Given the description of an element on the screen output the (x, y) to click on. 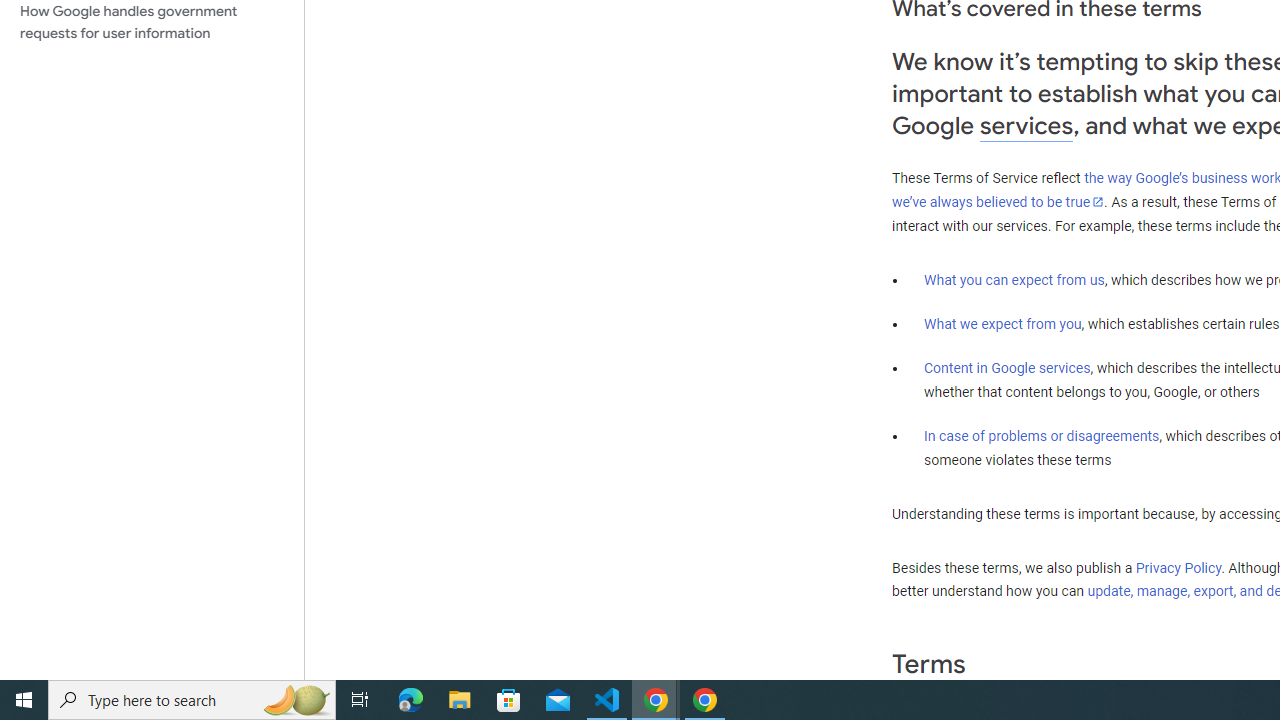
Content in Google services (1007, 368)
Privacy Policy (1178, 567)
In case of problems or disagreements (1041, 435)
What you can expect from us (1014, 279)
What we expect from you (1002, 323)
services (1026, 125)
